Given the description of an element on the screen output the (x, y) to click on. 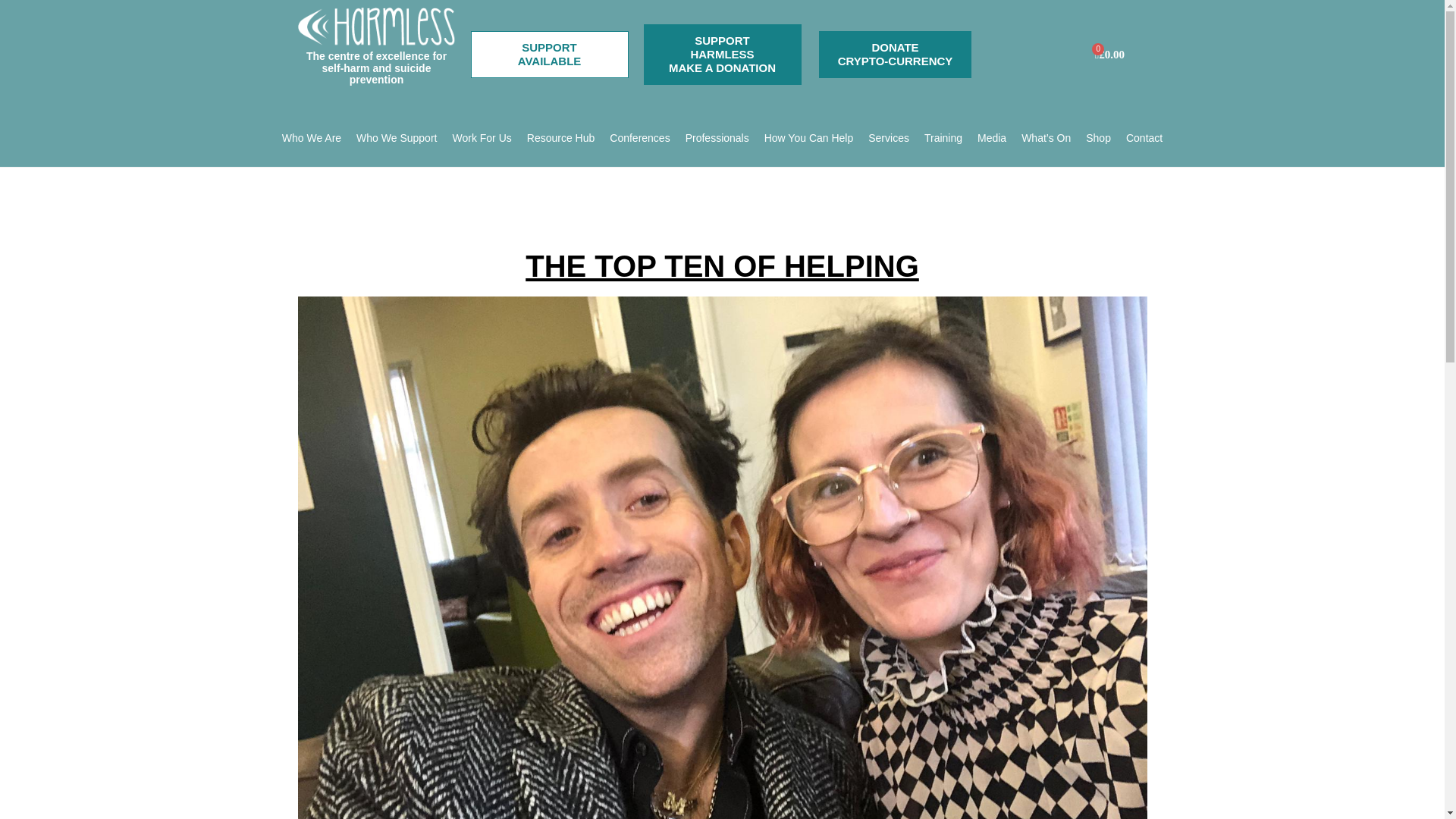
How You Can Help (808, 137)
Work For Us (481, 137)
Professionals (548, 54)
Who We Support (716, 137)
Services (396, 137)
Who We Are (888, 137)
Resource Hub (311, 137)
Conferences (560, 137)
